Given the description of an element on the screen output the (x, y) to click on. 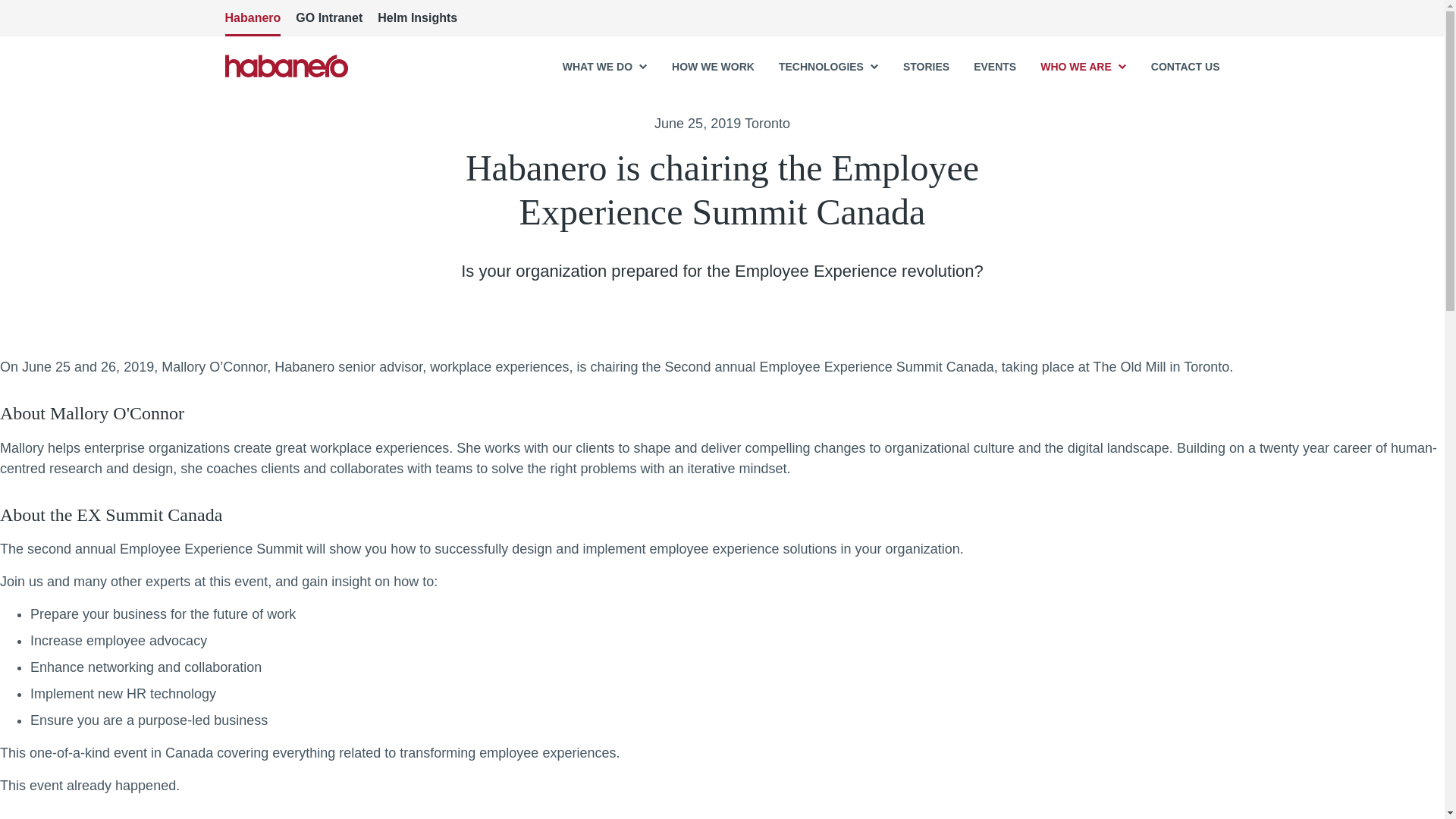
Helm Insights (417, 18)
Habanero Consulting Inc. (285, 65)
TECHNOLOGIES (828, 66)
STORIES (925, 66)
EVENTS (995, 66)
GO Intranet (328, 18)
WHO WE ARE (1083, 66)
HOW WE WORK (712, 66)
CONTACT US (1185, 66)
Habanero (252, 18)
